Given the description of an element on the screen output the (x, y) to click on. 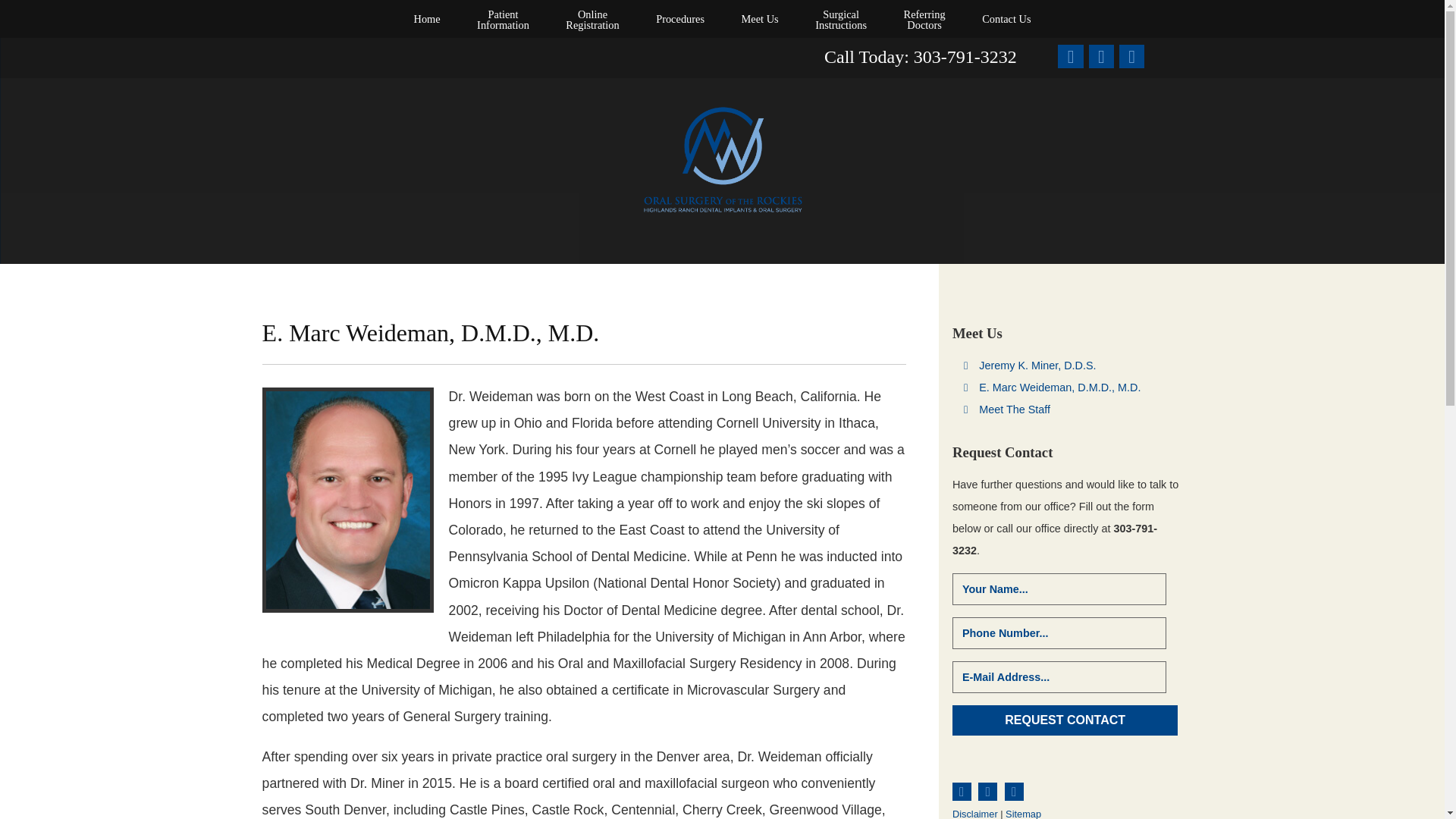
Procedures (679, 18)
Home (426, 18)
Meet Us (591, 18)
Request Contact (503, 18)
